Given the description of an element on the screen output the (x, y) to click on. 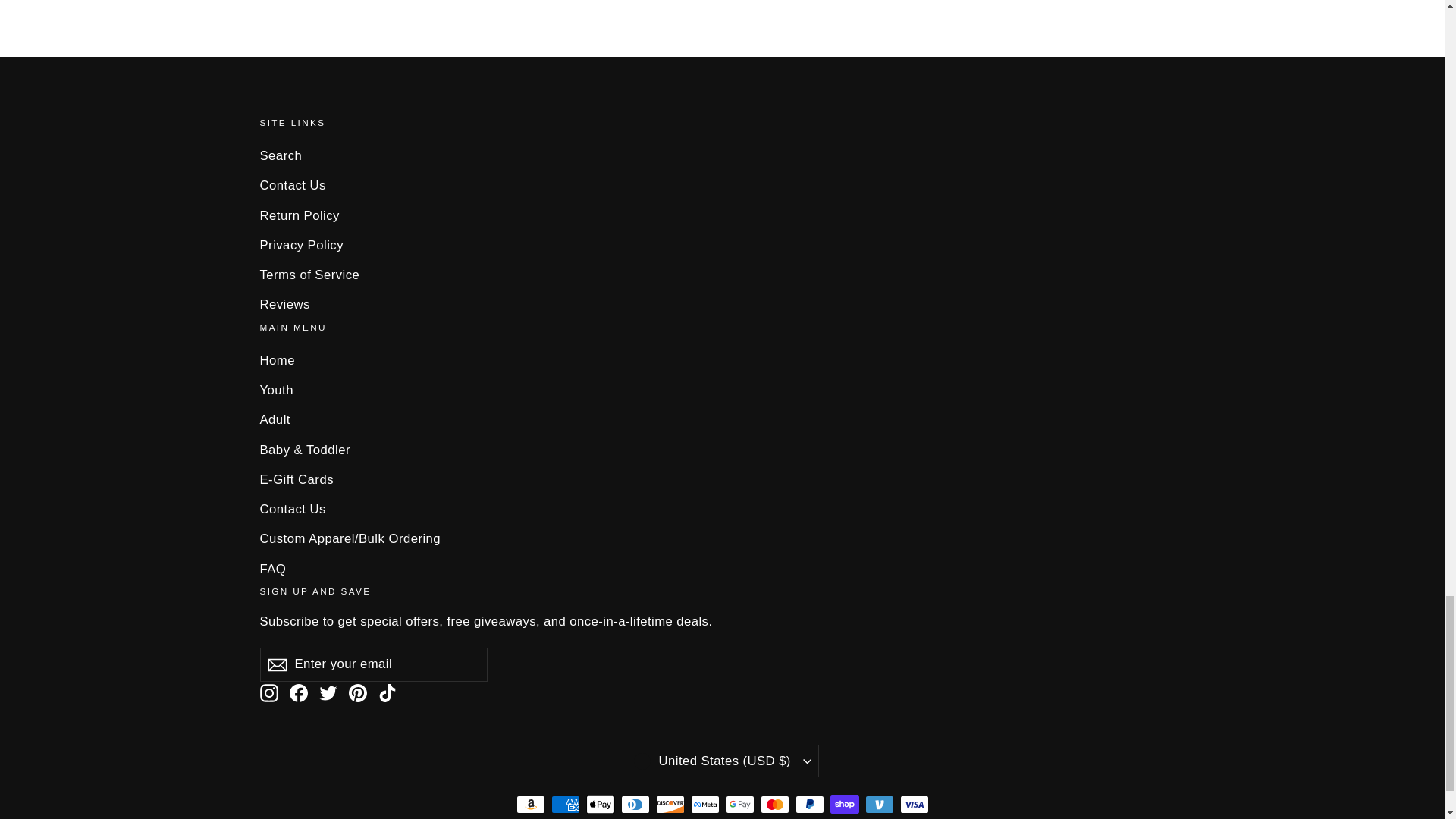
instagram (268, 692)
icon-email (276, 665)
twitter (327, 692)
